Given the description of an element on the screen output the (x, y) to click on. 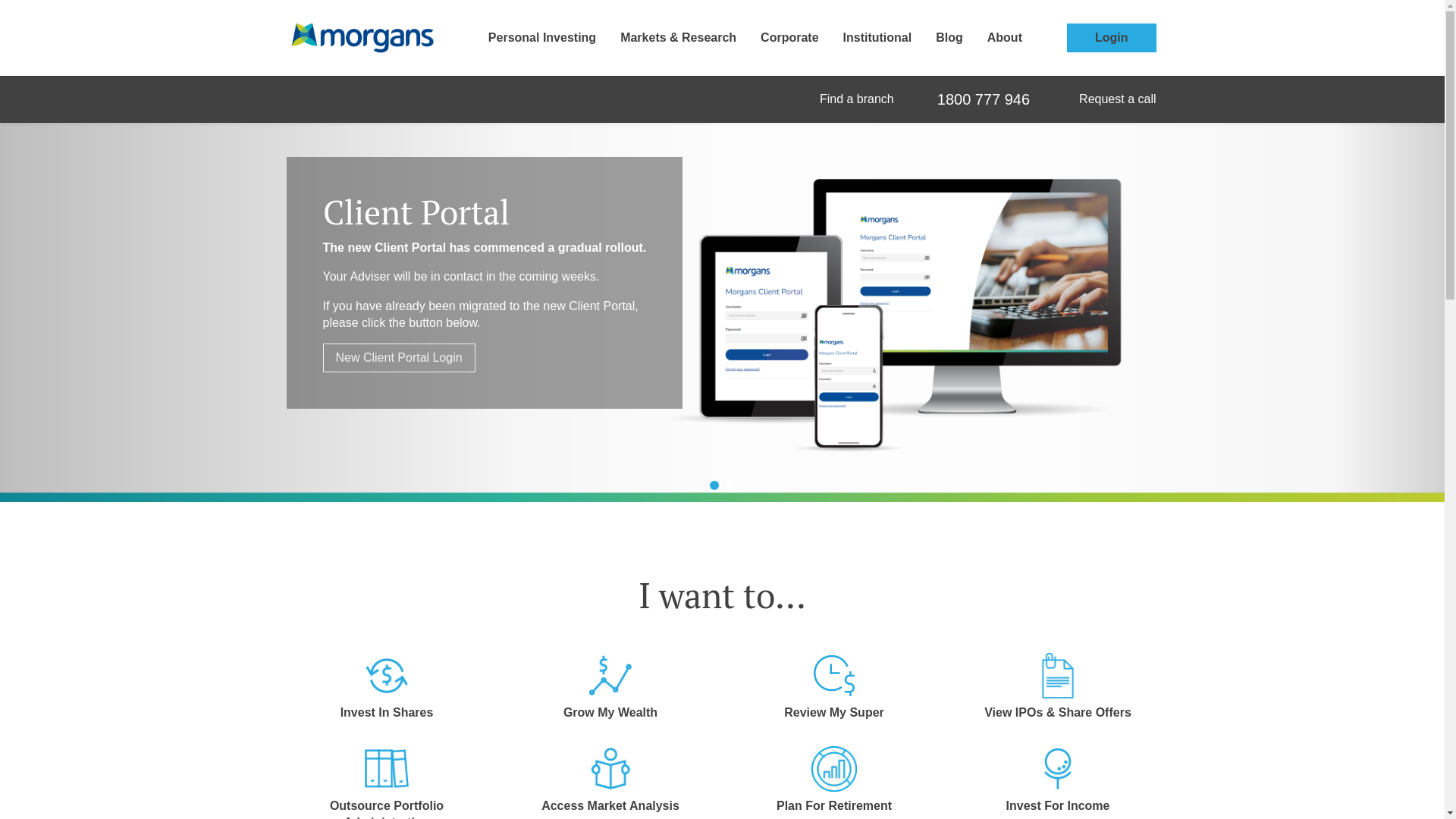
Institutional Element type: text (877, 37)
Grow My Wealth Element type: text (610, 692)
New Client Portal Login Element type: text (399, 357)
Invest In Shares Element type: text (386, 692)
Login Element type: text (1111, 37)
Review My Super Element type: text (833, 692)
Blog Element type: text (949, 37)
View IPOs & Share Offers Element type: text (1058, 692)
1800 777 946 Element type: text (983, 99)
Find a branch Element type: text (853, 99)
Personal Investing Element type: text (542, 37)
Corporate Element type: text (789, 37)
Markets & Research Element type: text (678, 37)
About Element type: text (1004, 37)
Request a call Element type: text (1114, 99)
